Given the description of an element on the screen output the (x, y) to click on. 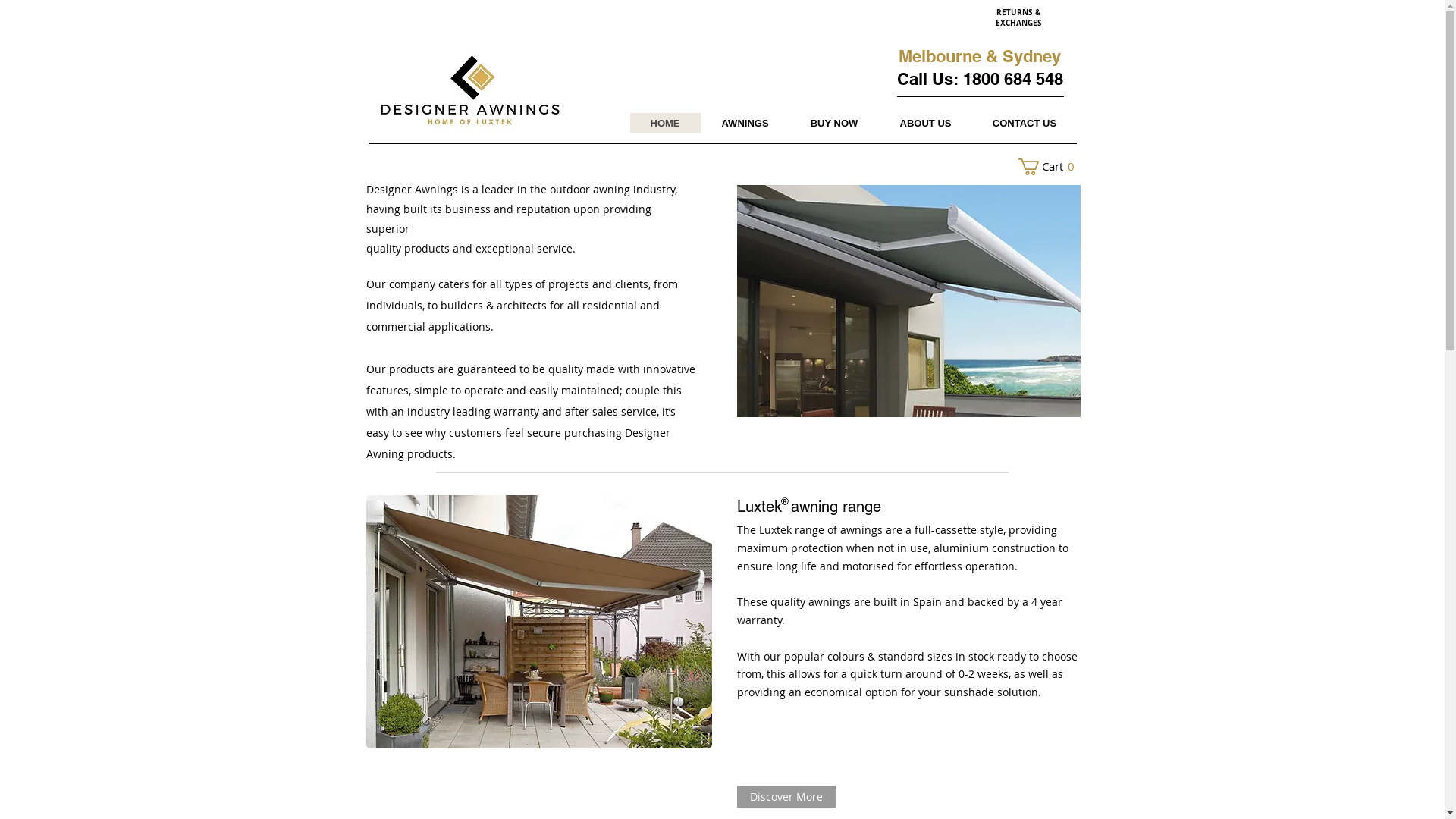
AWNINGS Element type: text (744, 122)
CONTACT US Element type: text (1024, 122)
RETURNS & EXCHANGES Element type: text (1017, 17)
Discover More Element type: text (786, 796)
ABOUT US Element type: text (924, 122)
Luxtek  awning range Element type: text (809, 505)
BUY NOW Element type: text (833, 122)
HOME Element type: text (664, 122)
Cart
0 Element type: text (1048, 166)
